Given the description of an element on the screen output the (x, y) to click on. 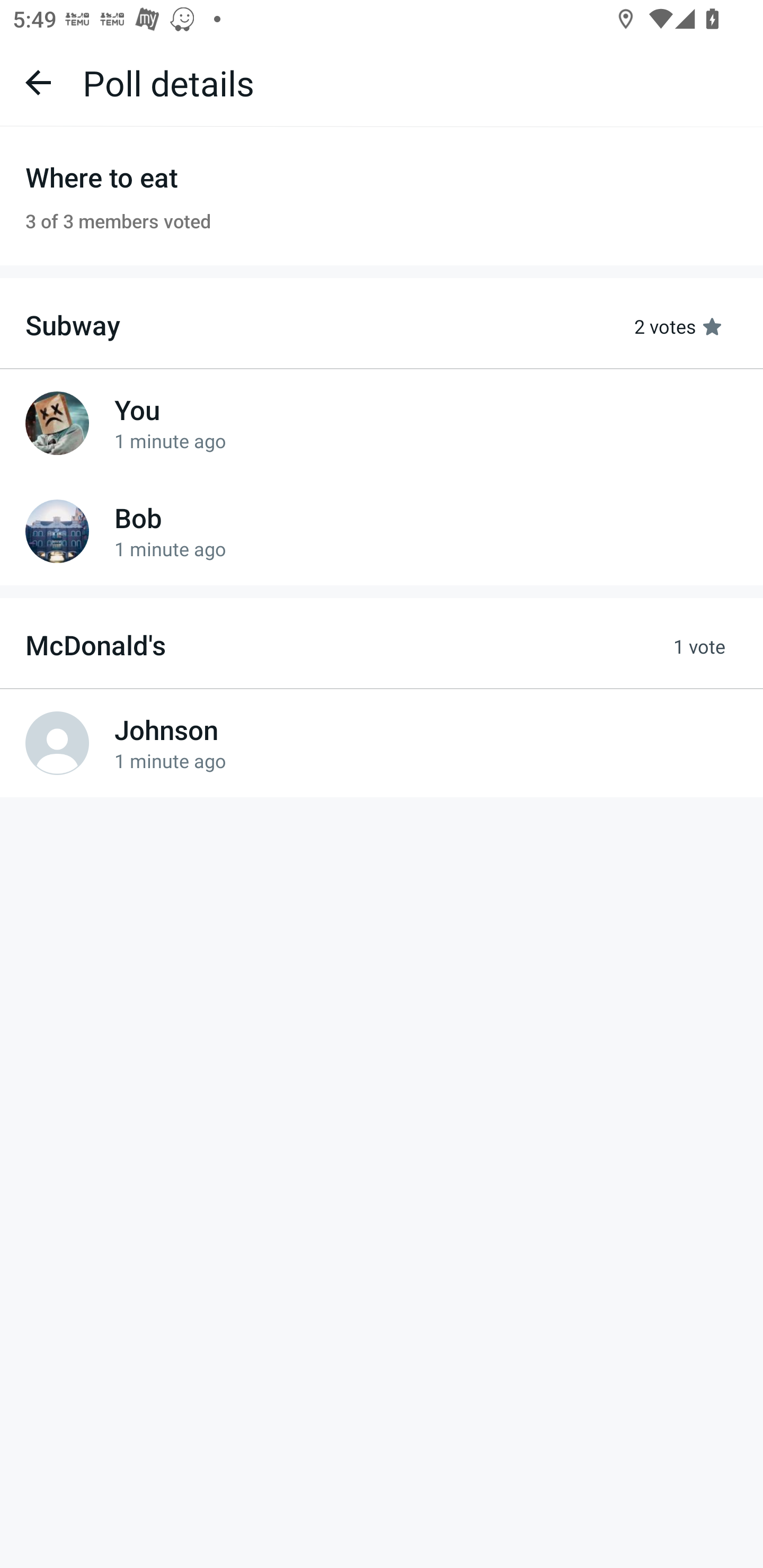
Navigate up (38, 82)
Bob  at 1 minute ago Bob Bob 1 minute ago (381, 530)
